Given the description of an element on the screen output the (x, y) to click on. 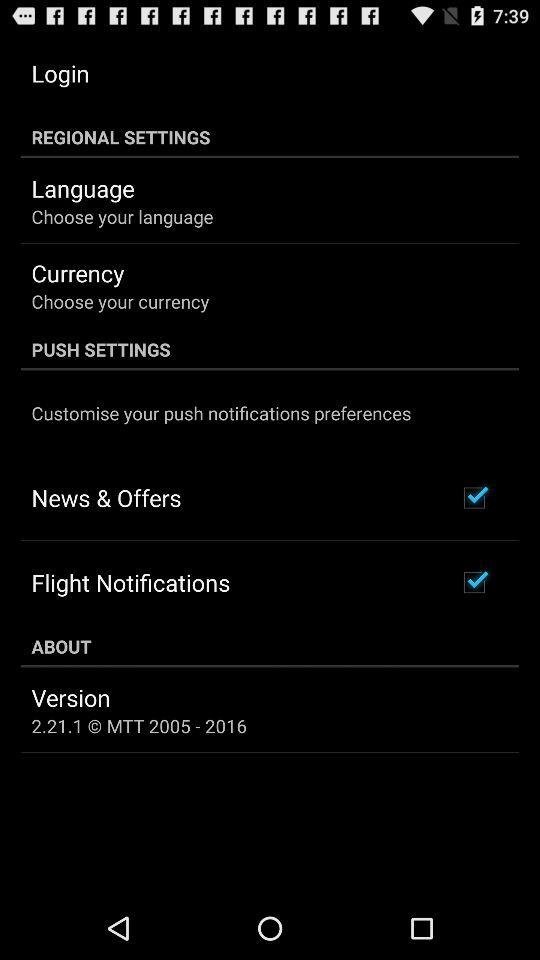
choose the about item (270, 646)
